Given the description of an element on the screen output the (x, y) to click on. 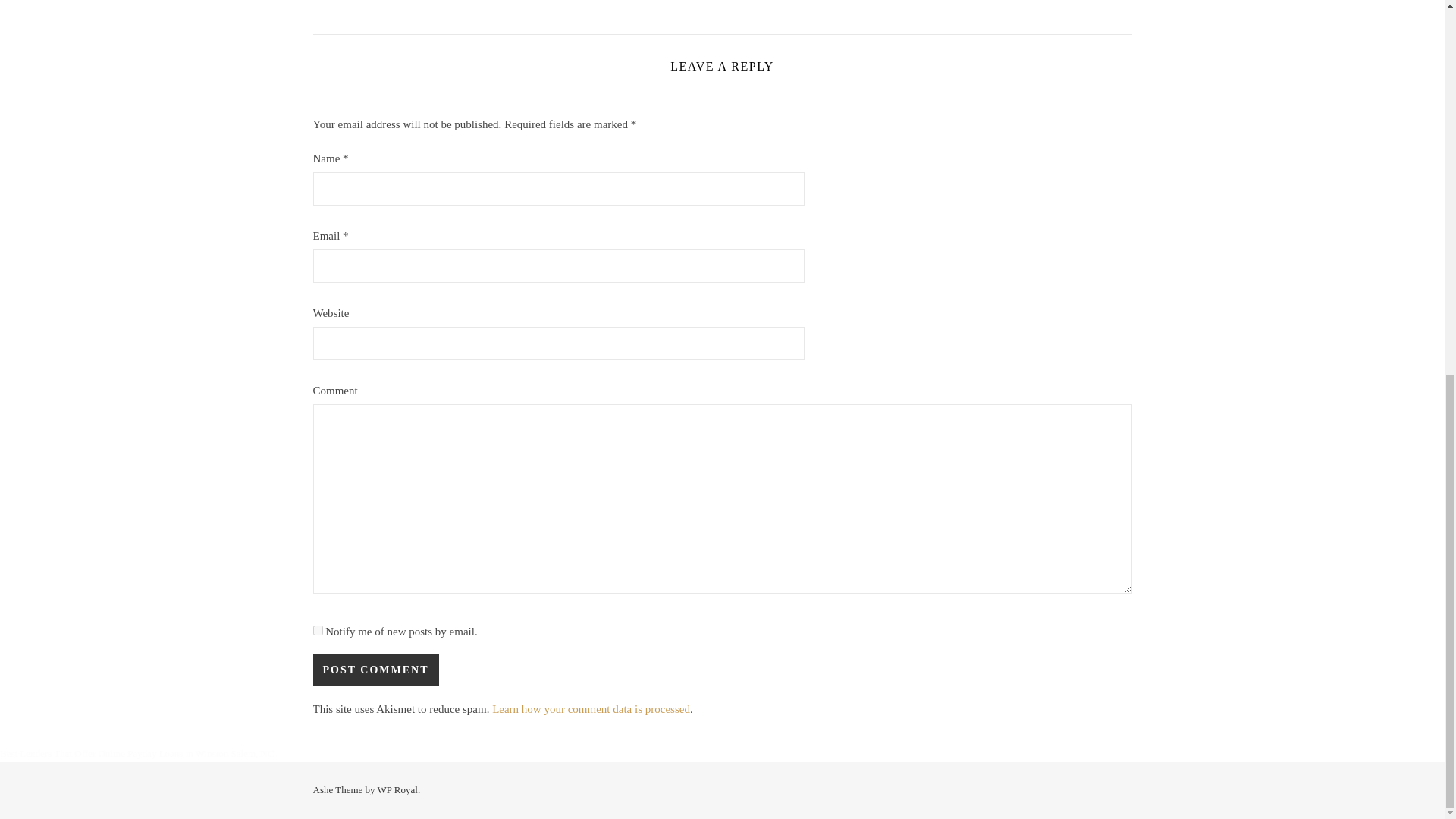
Learn how your comment data is processed (591, 708)
WP Royal (397, 789)
subscribe (317, 630)
Post Comment (375, 670)
Post Comment (375, 670)
Online Payday Loans (140, 753)
